Given the description of an element on the screen output the (x, y) to click on. 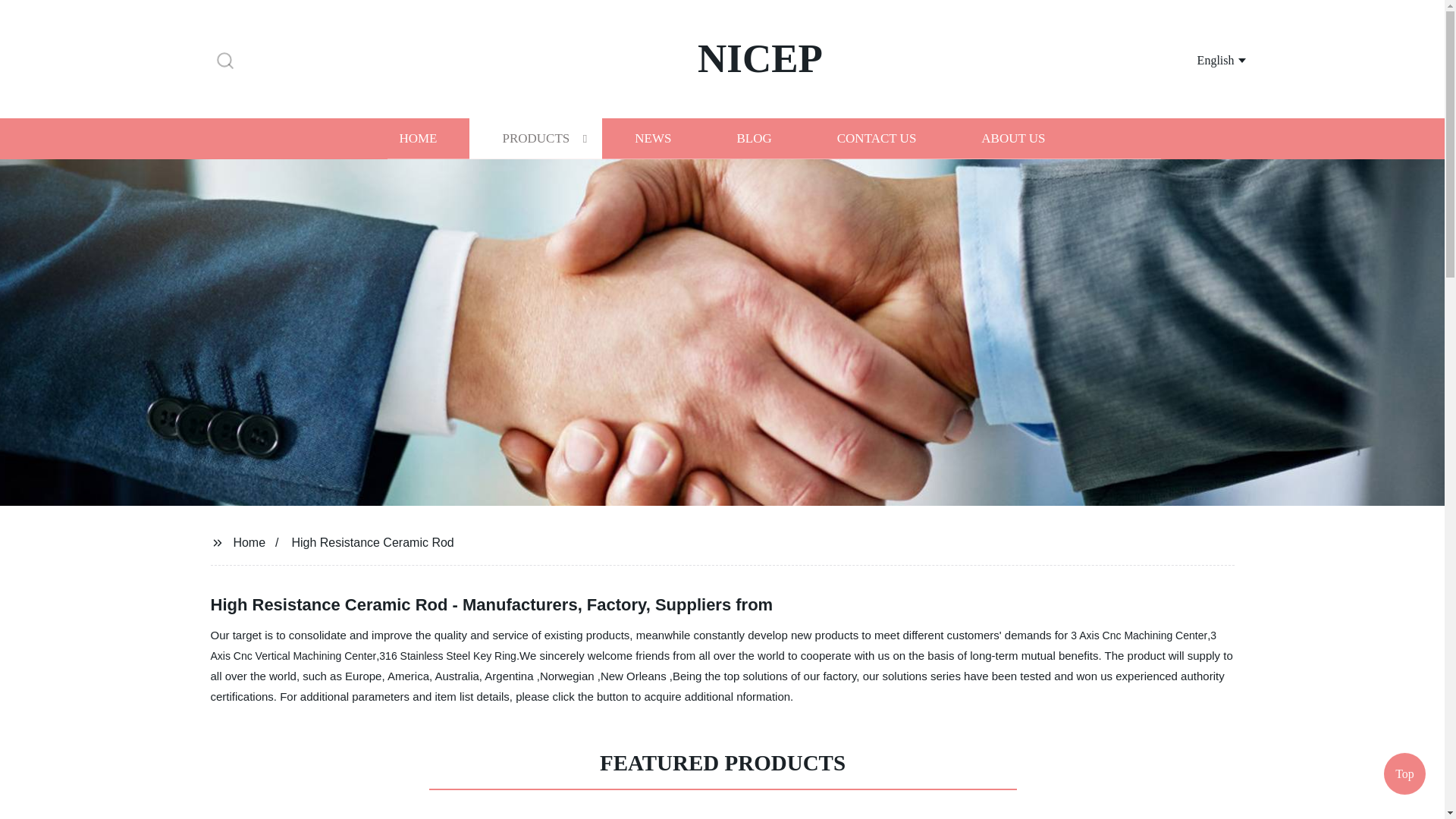
ABOUT US (1013, 137)
CONTACT US (877, 137)
PRODUCTS (535, 137)
English (1203, 59)
NEWS (652, 137)
3 Axis Cnc Vertical Machining Center (714, 645)
HOME (417, 137)
3 Axis Cnc Machining Center (1138, 635)
English (1203, 59)
Home (248, 541)
3 Axis Cnc Machining Center (1138, 635)
316 Stainless Steel Key Ring (447, 654)
316 Stainless Steel Key Ring (447, 654)
3 Axis Cnc Vertical Machining Center (714, 645)
Top (1404, 777)
